Given the description of an element on the screen output the (x, y) to click on. 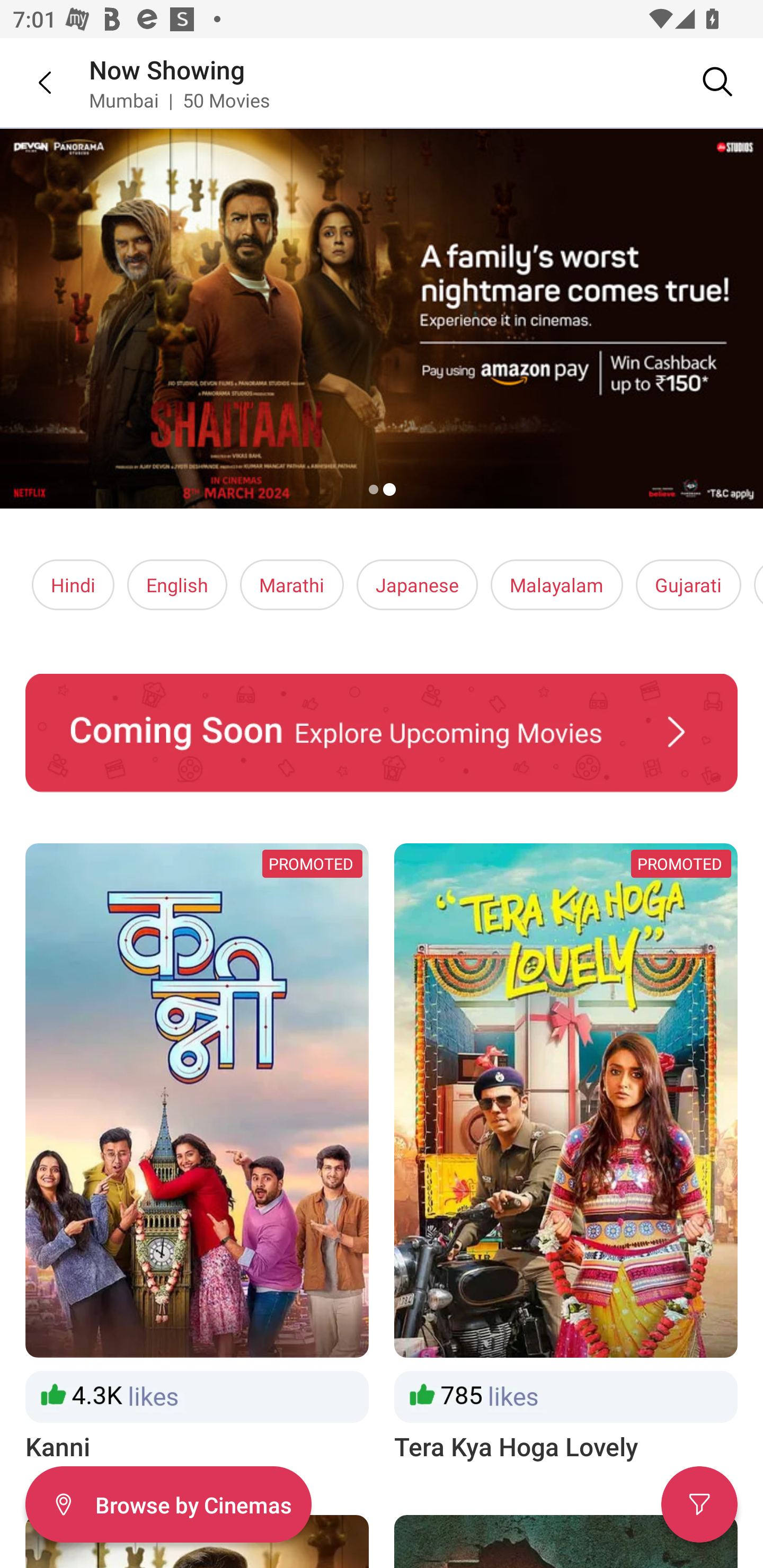
Back (31, 82)
Now Showing (166, 68)
Mumbai  |  50 Movies (179, 99)
Hindi (73, 584)
English (177, 584)
Marathi (292, 584)
Japanese (416, 584)
Malayalam (556, 584)
Gujarati (688, 584)
Kanni PROMOTED (196, 1153)
Tera Kya Hoga Lovely PROMOTED (565, 1153)
Filter Browse by Cinemas (168, 1504)
Filter (699, 1504)
